Given the description of an element on the screen output the (x, y) to click on. 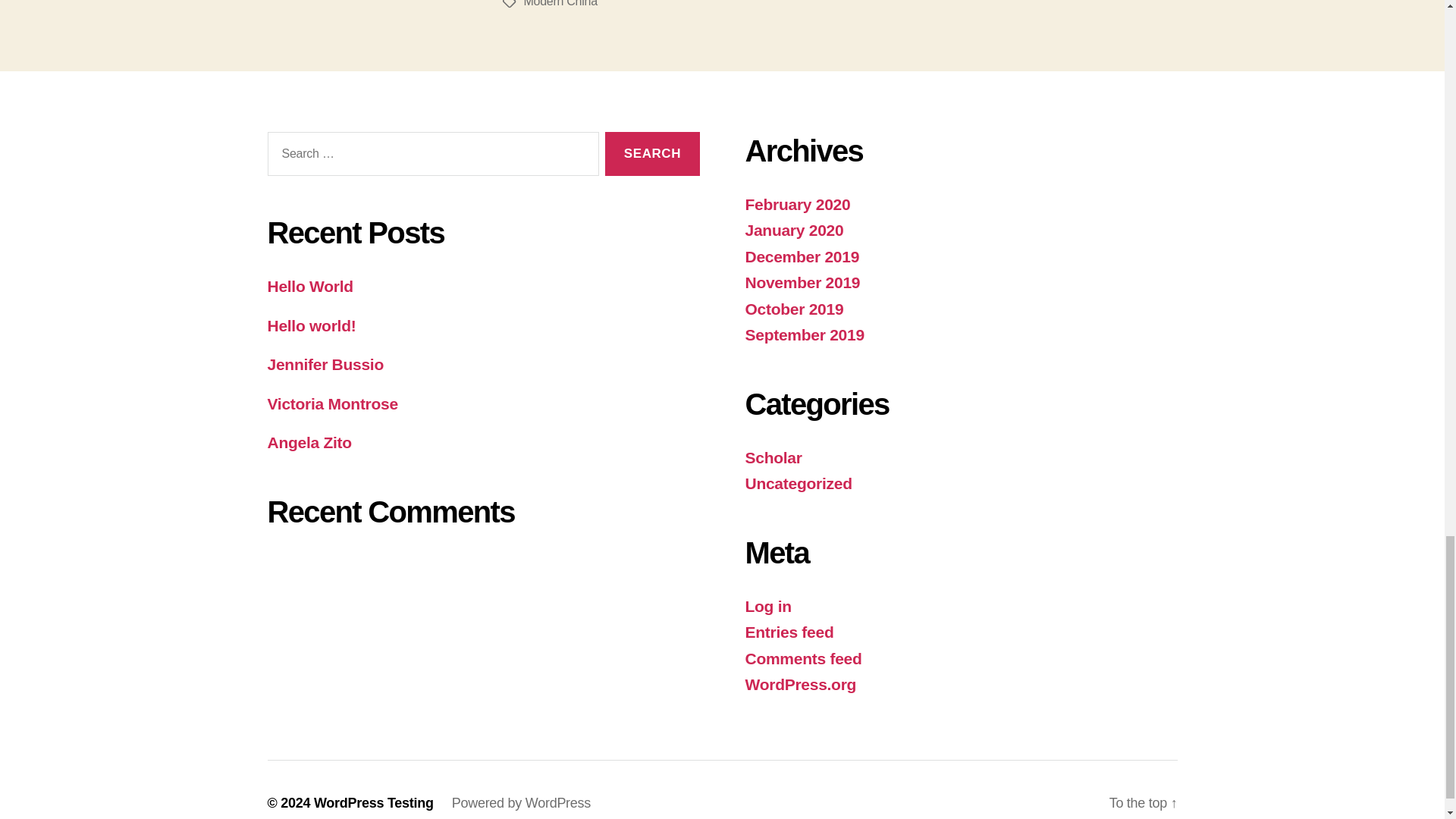
Search (651, 153)
Search (651, 153)
